Given the description of an element on the screen output the (x, y) to click on. 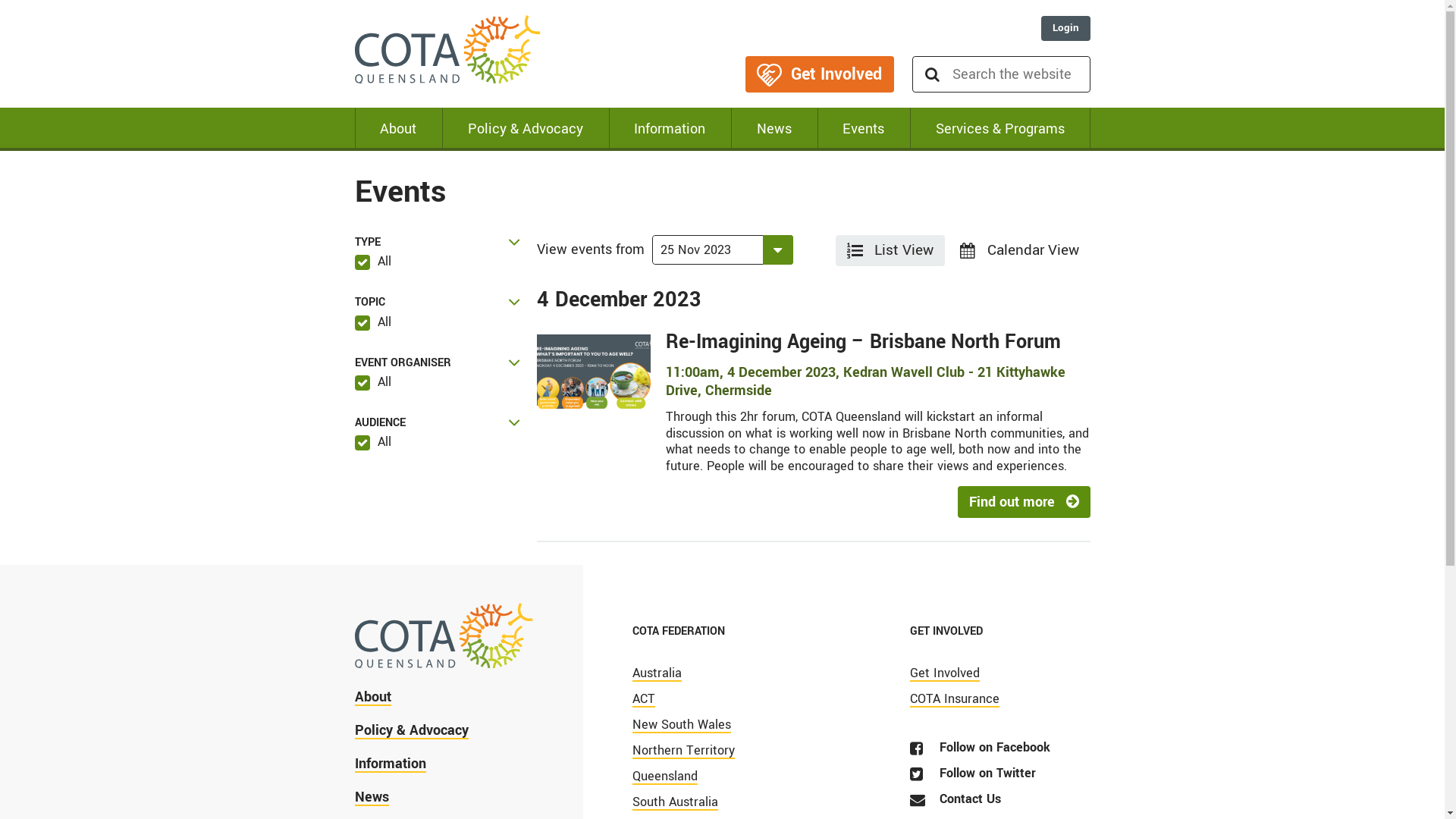
Follow on Twitter Element type: text (972, 774)
All Element type: text (372, 261)
South Australia Element type: text (675, 803)
EVENT ORGANISER Element type: text (437, 362)
Information Element type: text (669, 128)
Contact Us Element type: text (955, 800)
List View Element type: text (890, 250)
Get Involved Element type: text (818, 74)
Northern Territory Element type: text (683, 752)
Services & Programs Element type: text (1000, 128)
TOPIC Element type: text (437, 301)
All Element type: text (372, 321)
Perform search Element type: hover (931, 74)
AUDIENCE Element type: text (437, 422)
Calendar View Element type: text (1019, 250)
Policy & Advocacy Element type: text (525, 128)
Events Element type: text (863, 128)
Select date Element type: hover (706, 249)
Skip to content Element type: text (0, 0)
Policy & Advocacy Element type: text (411, 735)
Get Involved Element type: text (944, 674)
Find out more Element type: text (1023, 501)
News Element type: text (774, 128)
Follow on Facebook Element type: text (980, 749)
Information Element type: text (390, 768)
New South Wales Element type: text (681, 726)
COTA Insurance Element type: text (954, 700)
About Element type: text (398, 128)
Queensland Element type: text (664, 777)
Australia Element type: text (656, 674)
About Element type: text (372, 701)
All Element type: text (372, 441)
COTA QLD Element type: hover (447, 52)
Search the website Element type: hover (1020, 74)
TYPE Element type: text (437, 242)
Login Element type: text (1064, 27)
All Element type: text (372, 381)
COTA QLD Element type: hover (443, 643)
ACT Element type: text (643, 700)
